Given the description of an element on the screen output the (x, y) to click on. 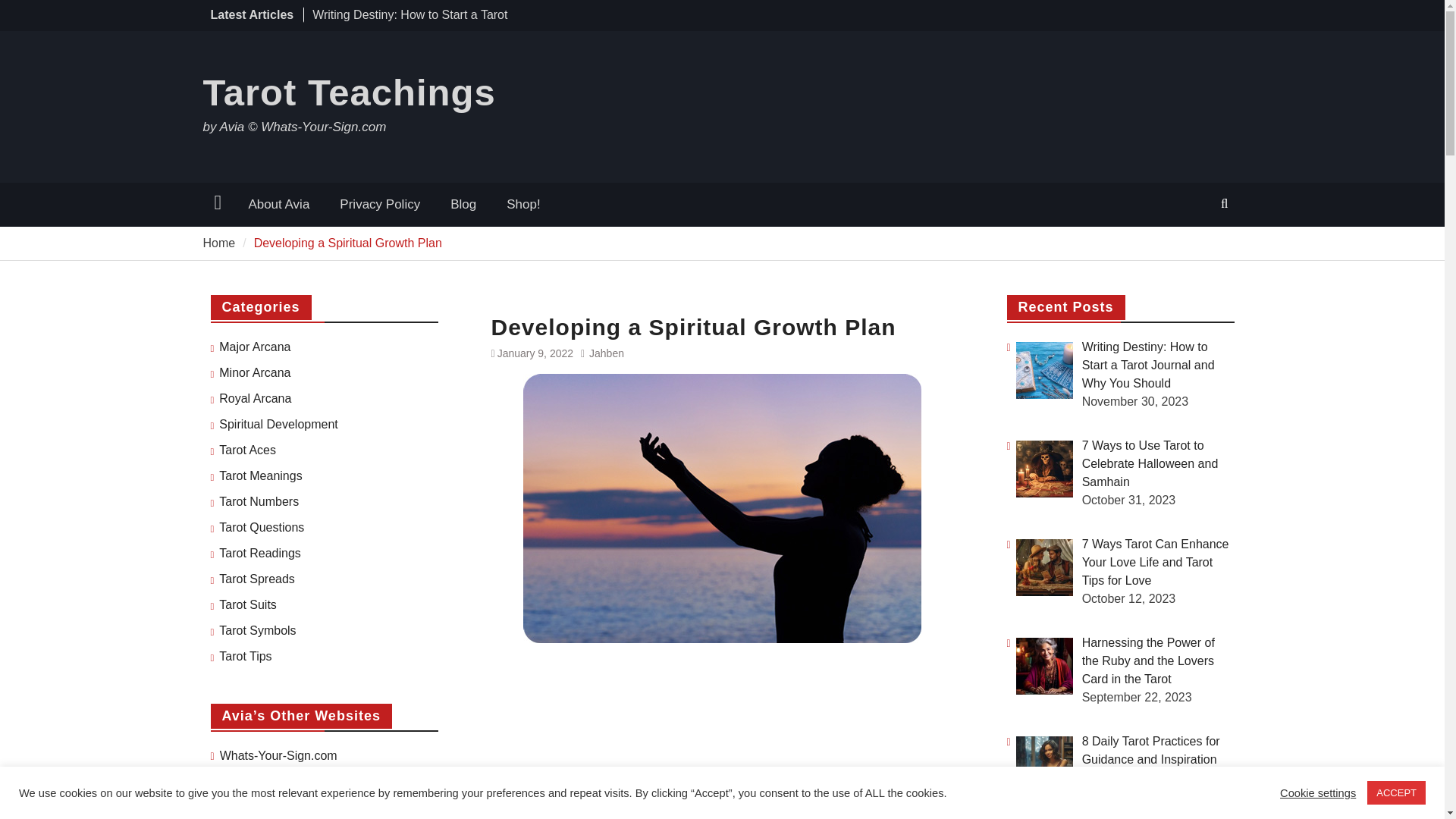
Shop! (523, 204)
Privacy Policy (379, 204)
About Avia (278, 204)
Jahben (606, 353)
January 9, 2022 (535, 353)
Blog (463, 204)
Home (219, 242)
Tarot Teachings (349, 92)
